Given the description of an element on the screen output the (x, y) to click on. 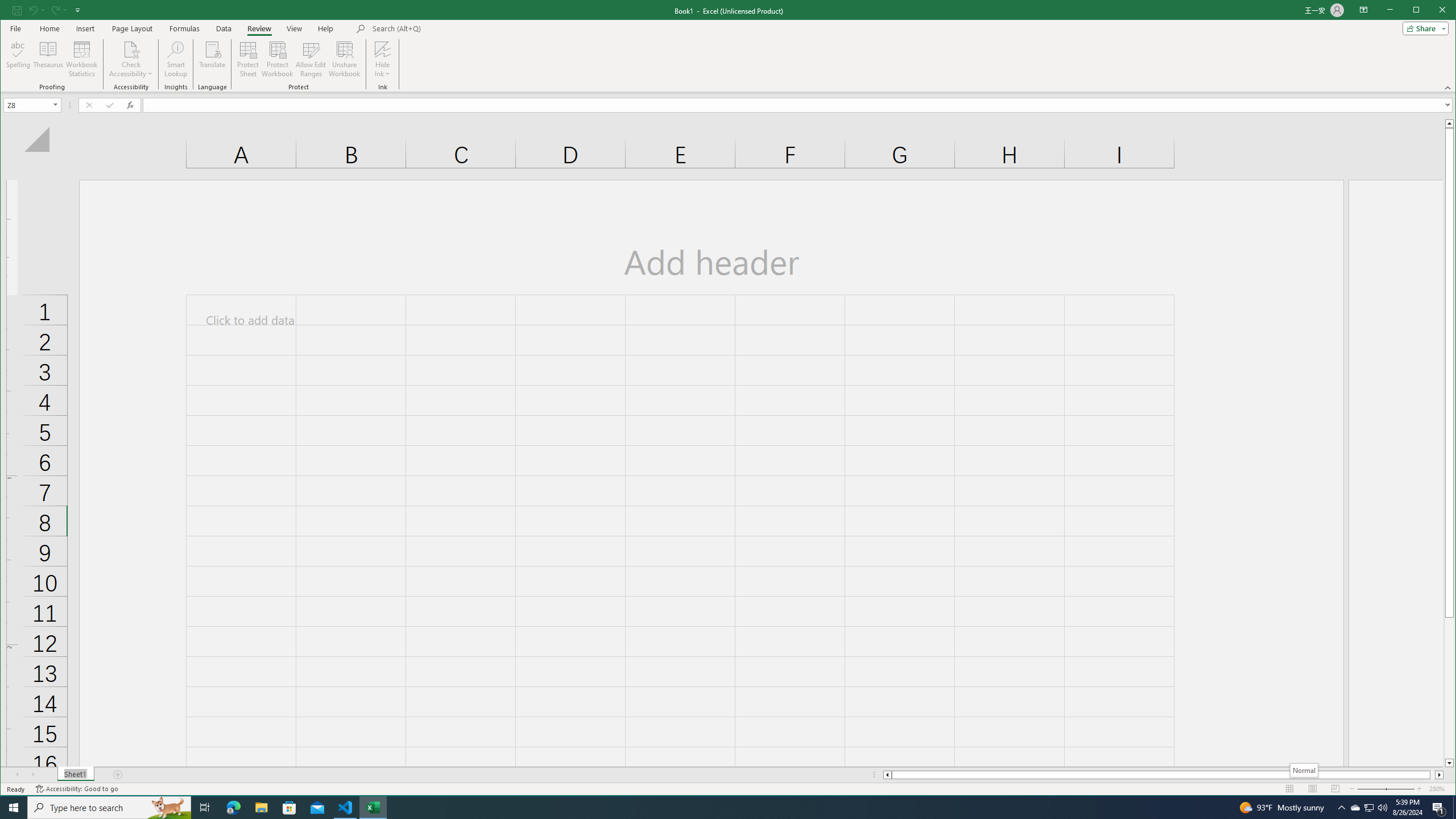
Data (223, 28)
Q2790: 100% (1382, 807)
Open (55, 105)
Page right (1432, 774)
File Explorer (261, 807)
Add Sheet (1368, 807)
Quick Access Toolbar (118, 774)
Workbook Statistics (46, 9)
Line up (82, 59)
Allow Edit Ranges (1449, 122)
Microsoft Edge (310, 59)
Task View (233, 807)
Microsoft search (204, 807)
